Given the description of an element on the screen output the (x, y) to click on. 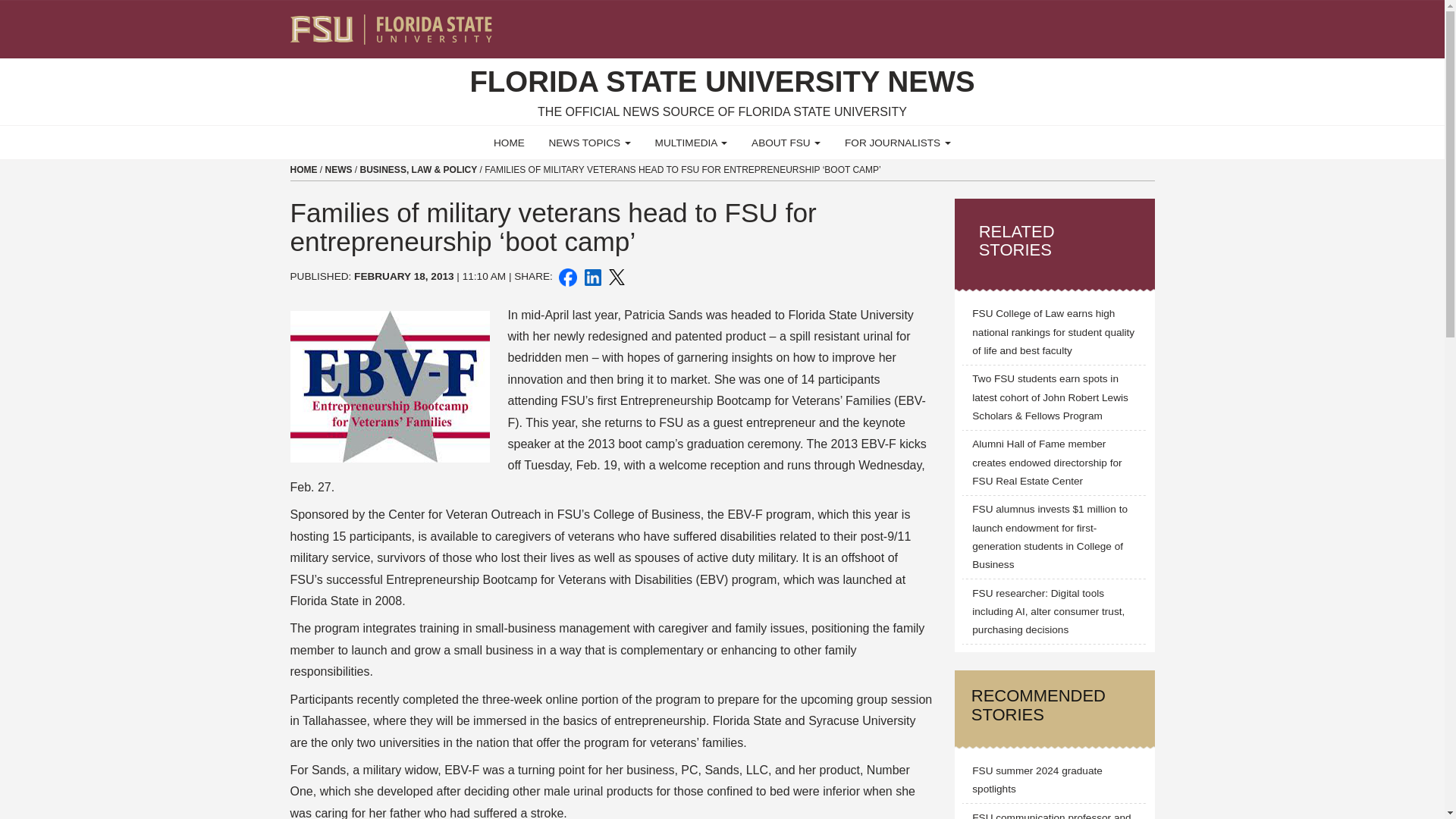
Skip to content (5, 5)
Navigation (1152, 23)
FSU Webmail (1112, 23)
